Given the description of an element on the screen output the (x, y) to click on. 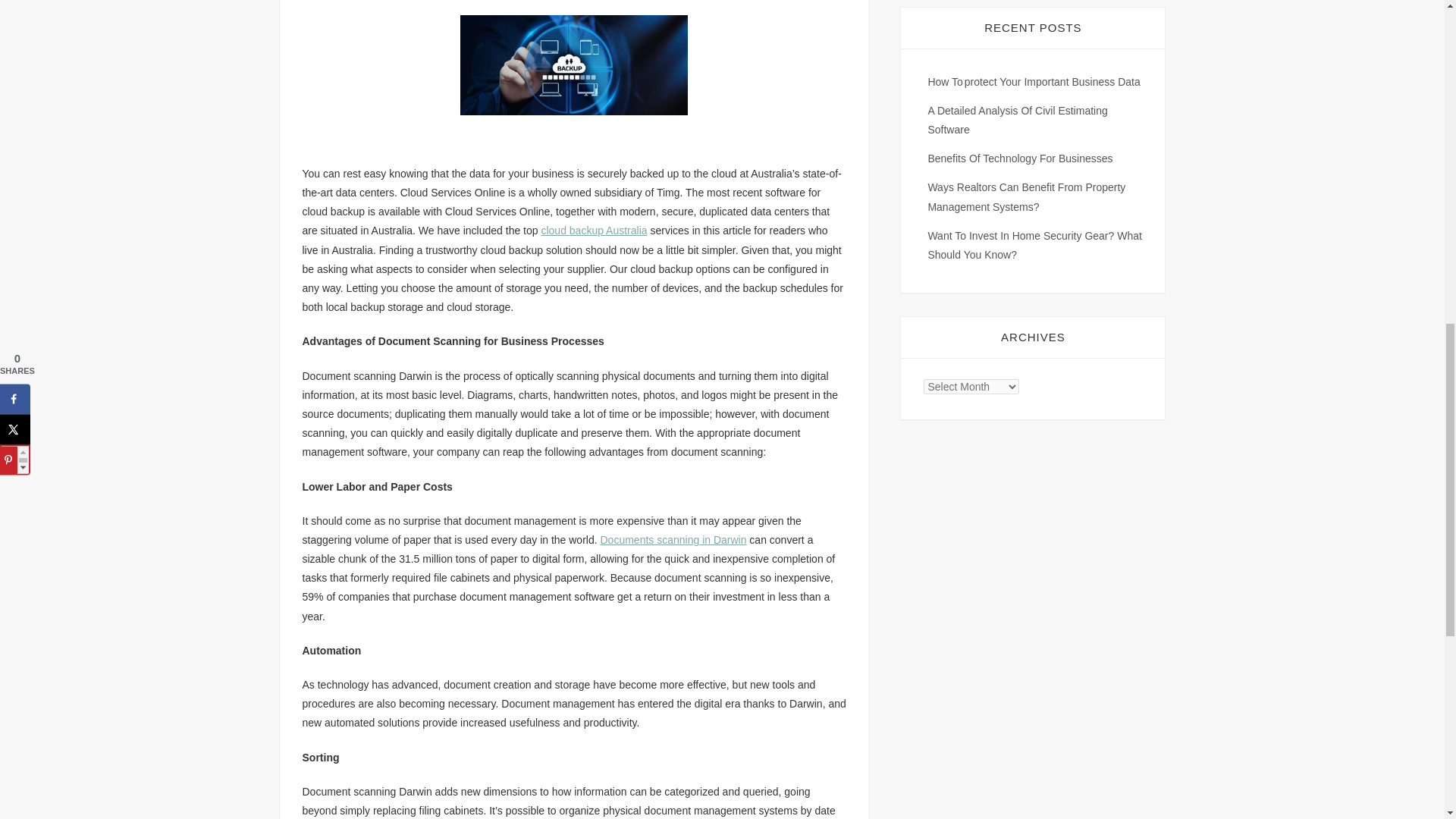
Ways Realtors Can Benefit From Property Management Systems? (1026, 196)
Want To Invest In Home Security Gear? What Should You Know? (1034, 245)
Documents scanning in Darwin (672, 539)
cloud backup Australia (593, 230)
Benefits Of Technology For Businesses (1019, 158)
cloud-backup.jpg (573, 64)
A Detailed Analysis Of Civil Estimating Software (1016, 119)
